Given the description of an element on the screen output the (x, y) to click on. 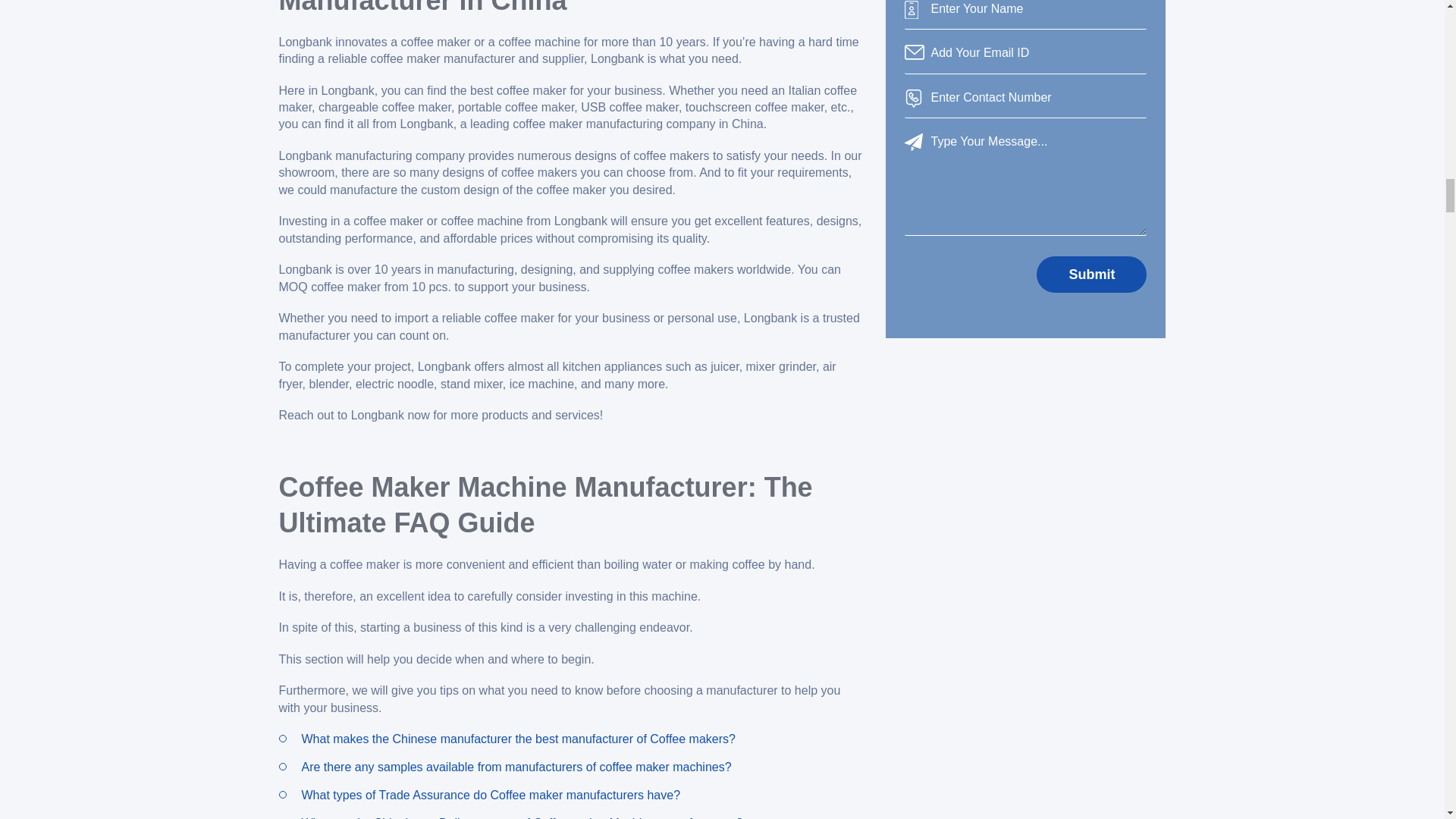
Submit (1091, 274)
